Given the description of an element on the screen output the (x, y) to click on. 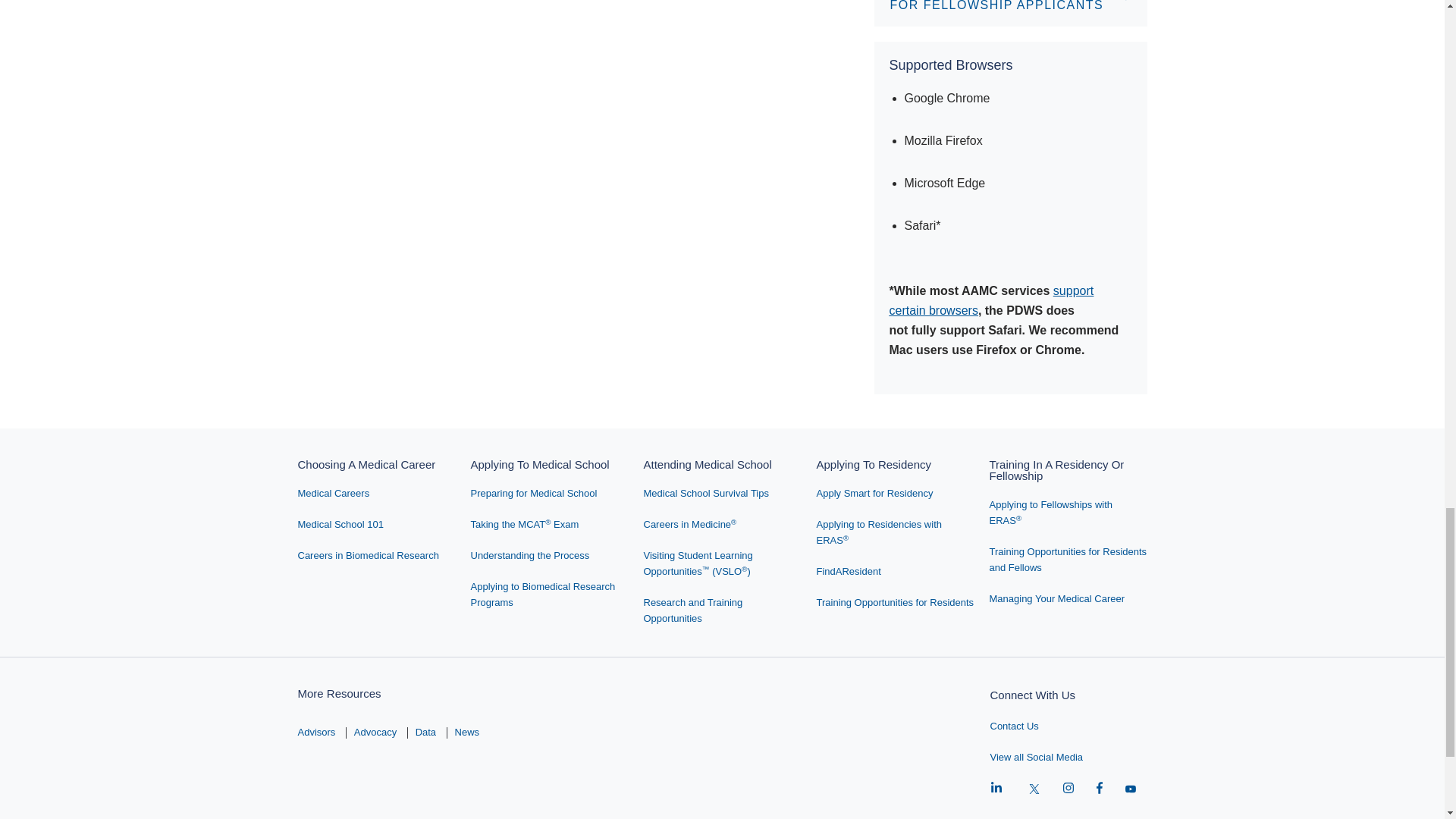
linkedin (996, 789)
twitter (1034, 789)
youtube (1129, 789)
instagram (1067, 789)
